Given the description of an element on the screen output the (x, y) to click on. 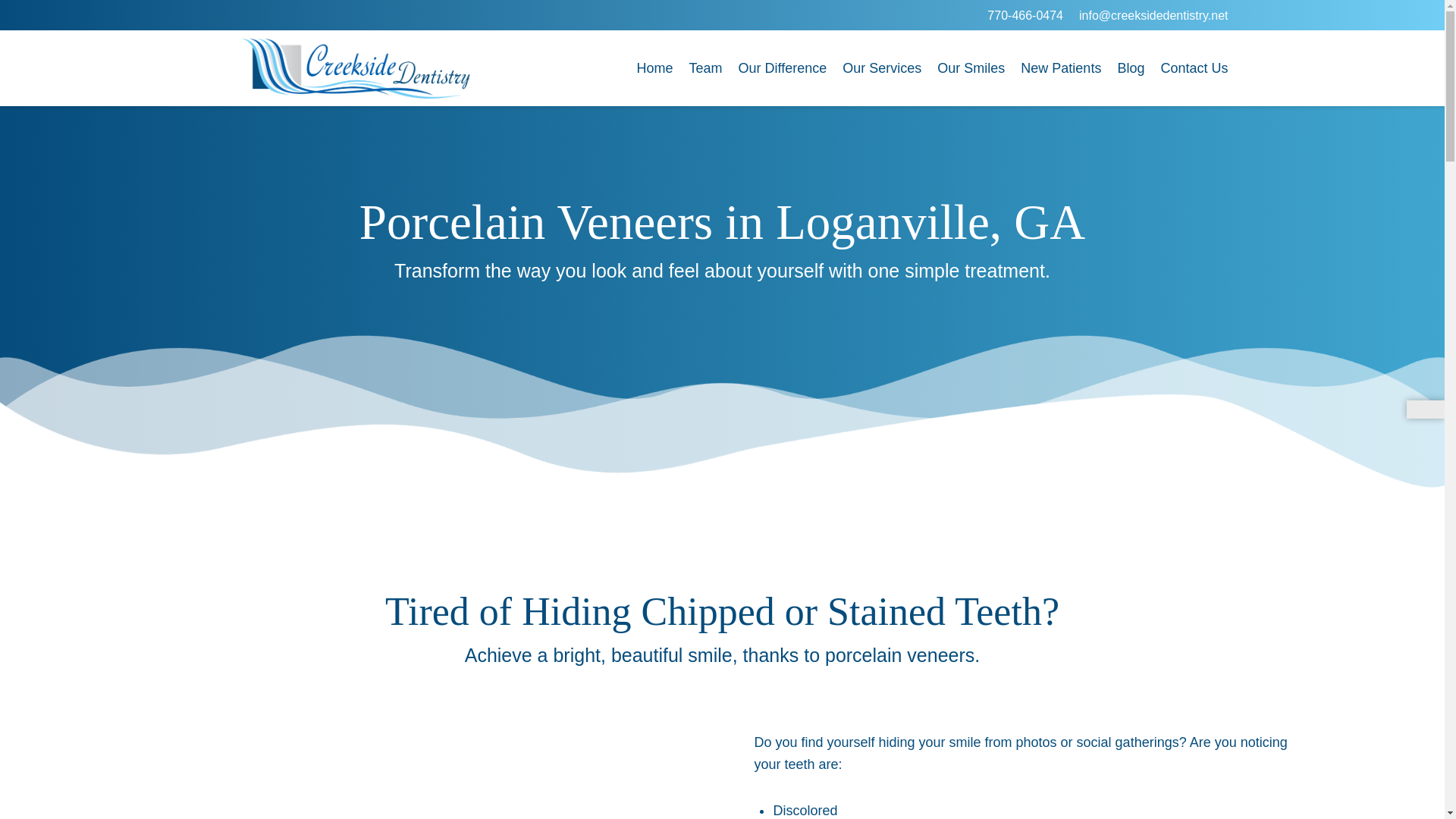
Contact Us (1193, 68)
Our Smiles (970, 68)
Our Services (881, 68)
New Patients (1060, 68)
Our Difference (782, 68)
770-466-0474 (1024, 15)
